Given the description of an element on the screen output the (x, y) to click on. 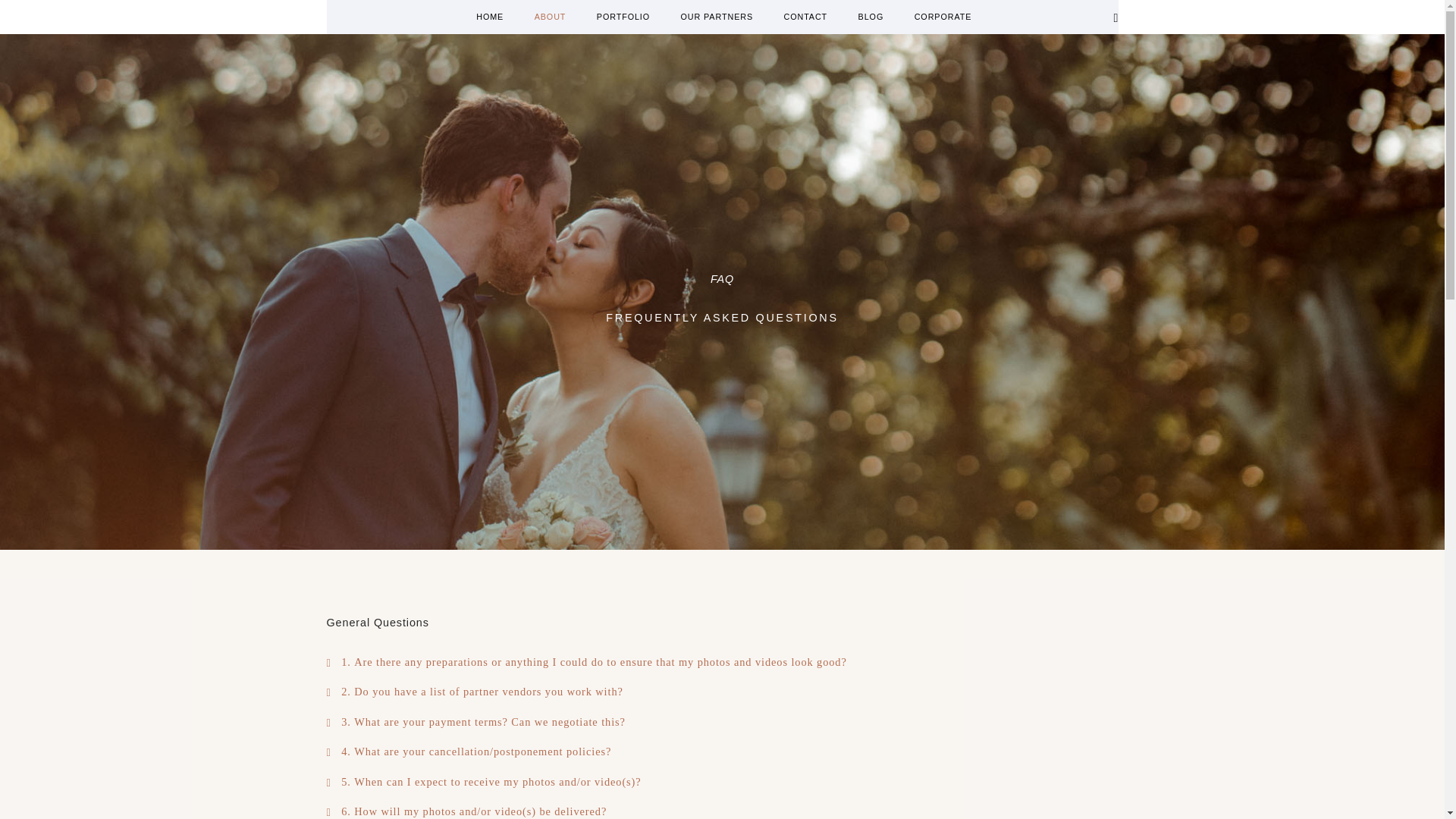
Contact (895, 18)
Home (544, 18)
ABOUT (610, 18)
PORTFOLIO (691, 18)
Blog (966, 18)
CORPORATE (1047, 18)
CONTACT (895, 18)
About (610, 18)
OUR PARTNERS (796, 18)
BLOG (966, 18)
Portfolio (691, 18)
HOME (544, 18)
Our Partners (796, 18)
